Given the description of an element on the screen output the (x, y) to click on. 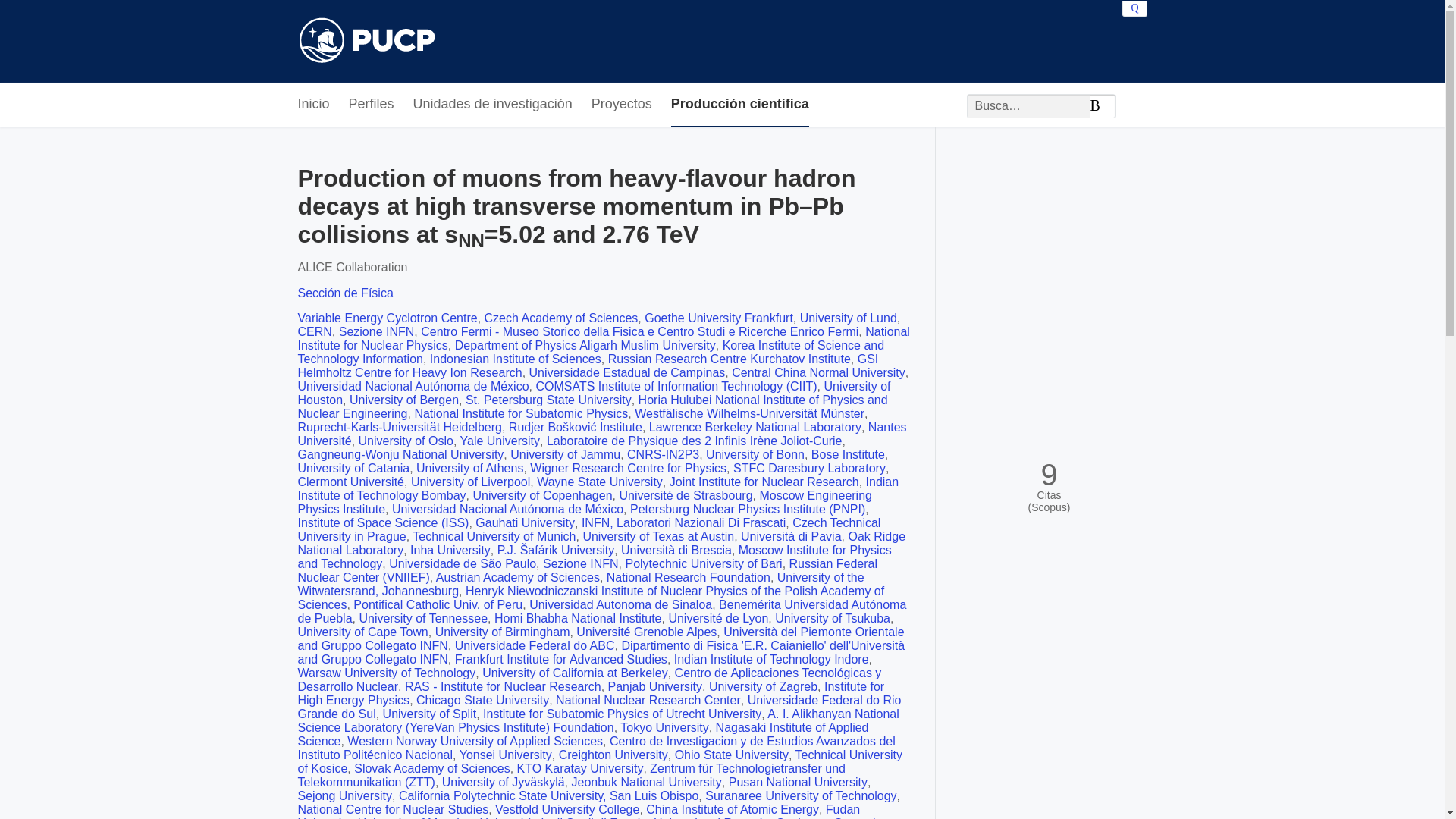
Department of Physics Aligarh Muslim University (585, 345)
Lawrence Berkeley National Laboratory (755, 427)
Central China Normal University (818, 372)
Proyectos (621, 104)
St. Petersburg State University (548, 399)
Sezione INFN (376, 331)
National Institute for Nuclear Physics (602, 338)
University of Houston (593, 393)
Variable Energy Cyclotron Centre (387, 318)
